Given the description of an element on the screen output the (x, y) to click on. 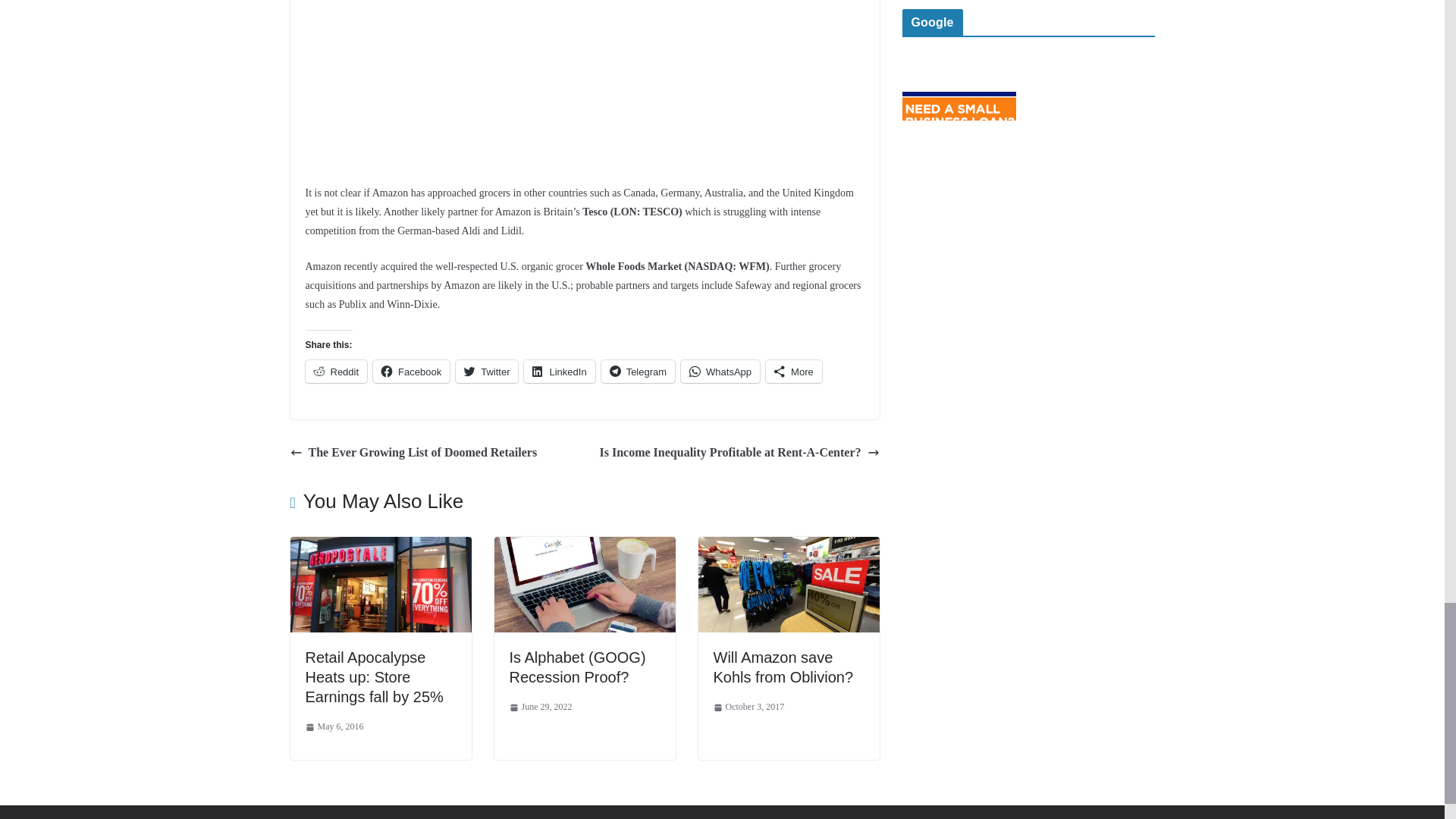
Click to share on Reddit (335, 370)
Twitter (486, 370)
Click to share on Facebook (410, 370)
Click to share on WhatsApp (720, 370)
Click to share on Telegram (638, 370)
Reddit (335, 370)
Click to share on LinkedIn (559, 370)
LinkedIn (559, 370)
Click to share on Twitter (486, 370)
9:54 pm (333, 727)
